Given the description of an element on the screen output the (x, y) to click on. 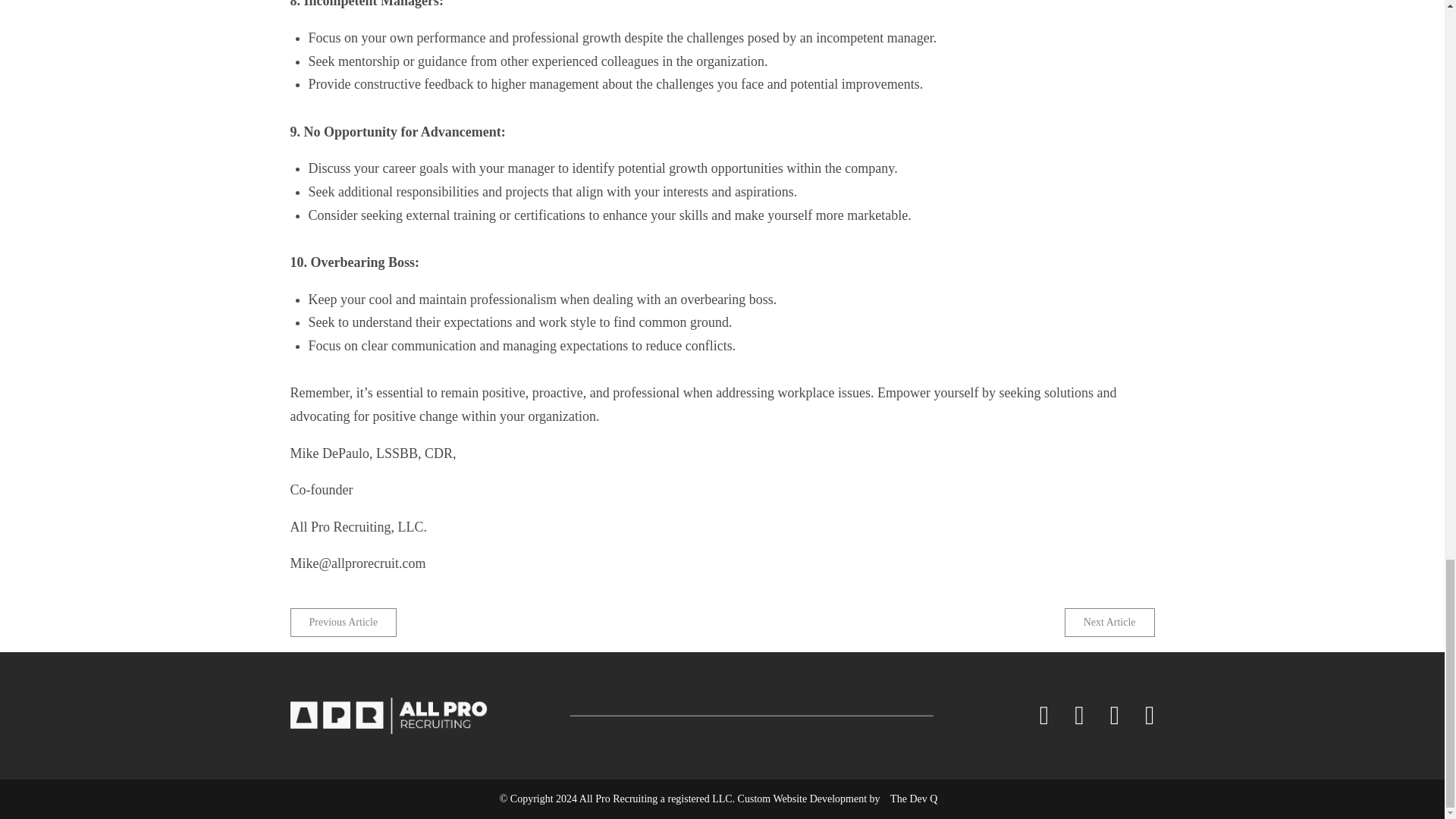
Next Article (1109, 622)
Previous Article (342, 622)
The Dev Q (913, 798)
